Given the description of an element on the screen output the (x, y) to click on. 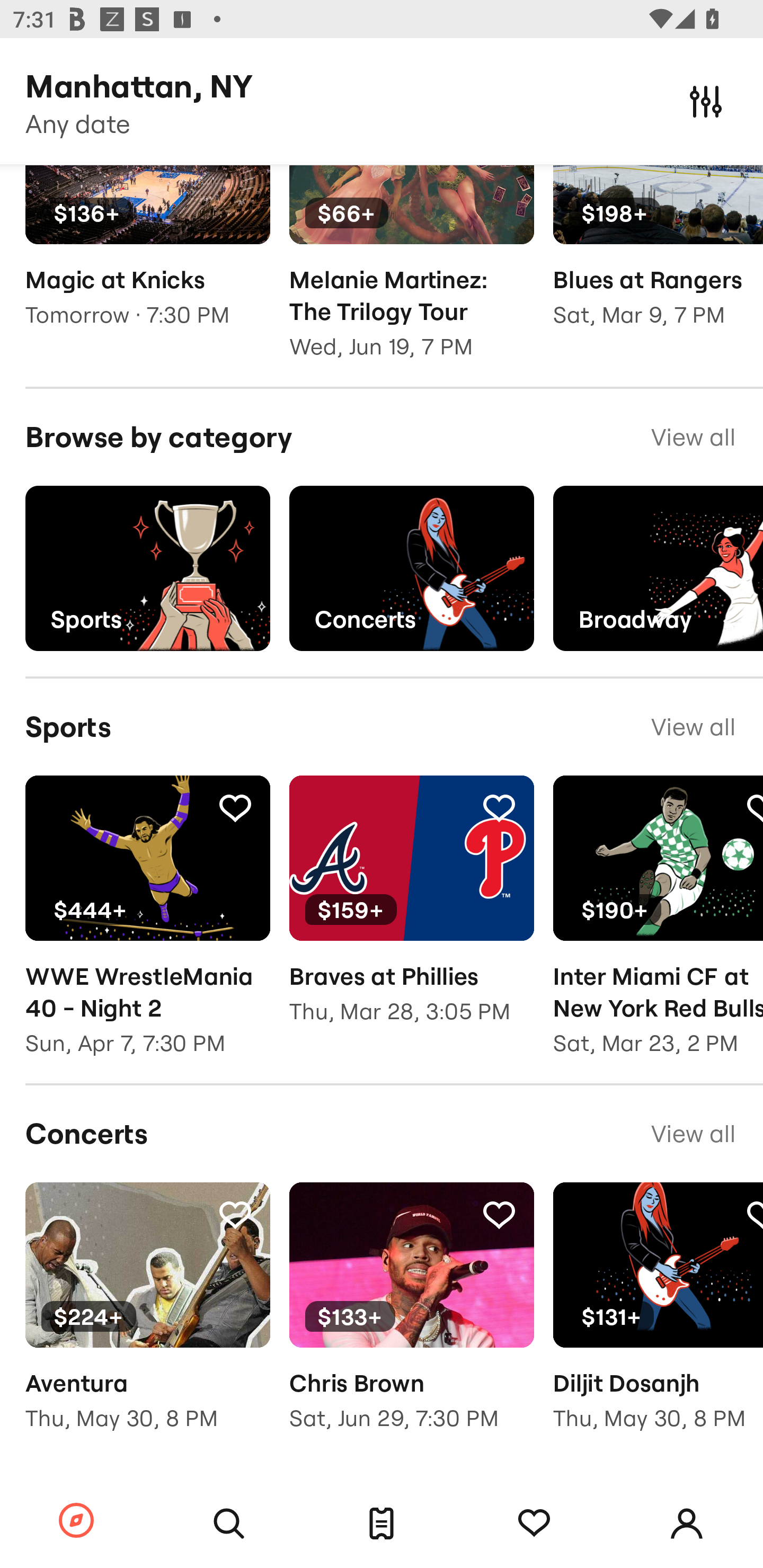
Close (705, 100)
$136+ Magic at Knicks Tomorrow · 7:30 PM (147, 259)
$198+ Blues at Rangers Sat, Mar 9, 7 PM (658, 259)
View all (693, 437)
Sports (147, 568)
Concerts (411, 568)
Broadway (658, 568)
View all (693, 727)
Tracking (234, 807)
Tracking (498, 807)
View all (693, 1133)
Tracking $224+ Aventura Thu, May 30, 8 PM (147, 1319)
Tracking $133+ Chris Brown Sat, Jun 29, 7:30 PM (411, 1319)
Tracking $131+ Diljit Dosanjh Thu, May 30, 8 PM (658, 1319)
Tracking (234, 1213)
Tracking (498, 1213)
Browse (76, 1521)
Search (228, 1523)
Tickets (381, 1523)
Tracking (533, 1523)
Account (686, 1523)
